Given the description of an element on the screen output the (x, y) to click on. 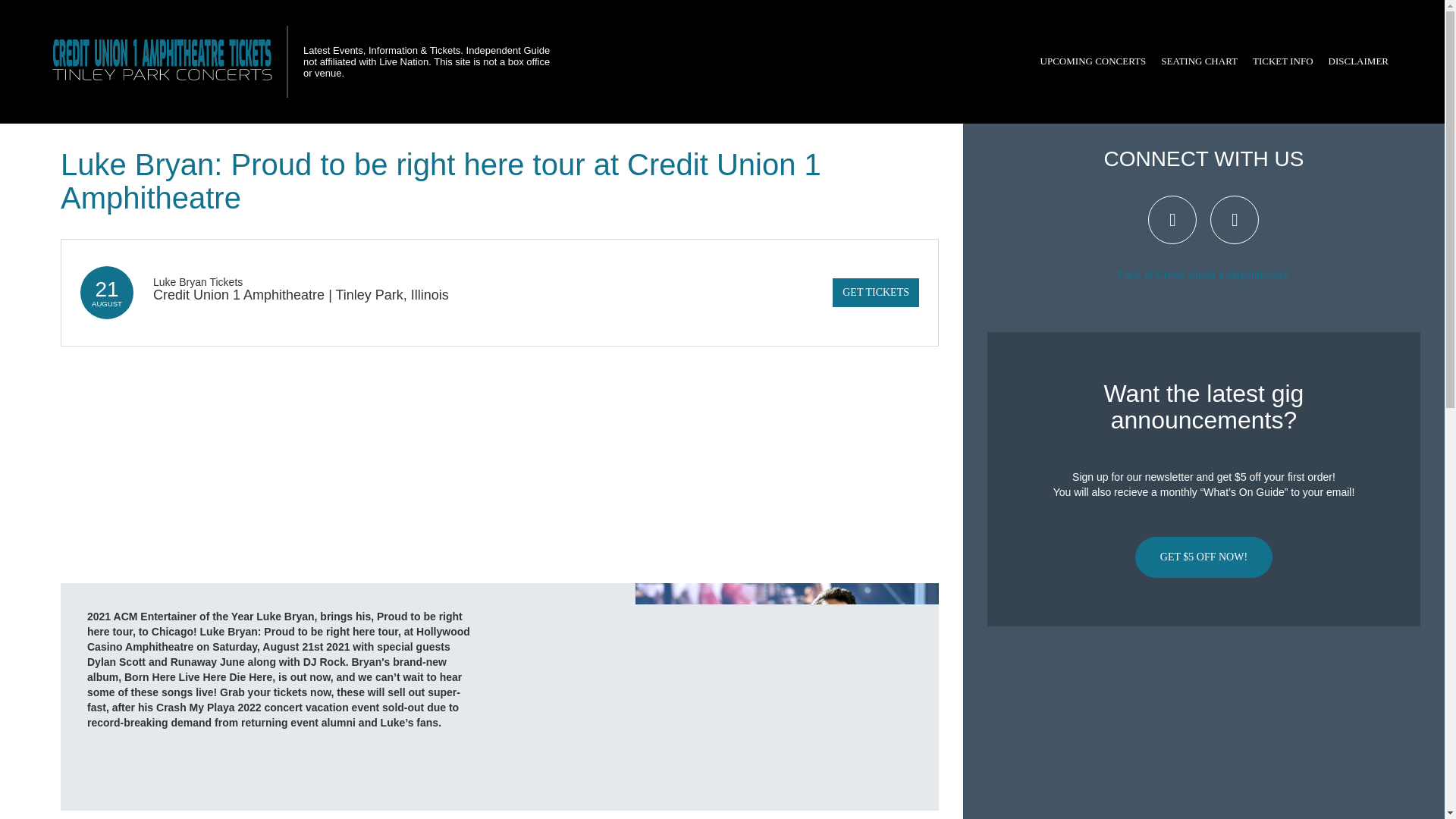
TICKET INFO (1282, 61)
UPCOMING CONCERTS (1093, 61)
SEATING CHART (1198, 61)
Luke Bryan Tickets (197, 282)
DISCLAIMER (1358, 61)
GET TICKETS (875, 292)
Fans of Credit Union 1 Amphitheatre (1203, 275)
